Given the description of an element on the screen output the (x, y) to click on. 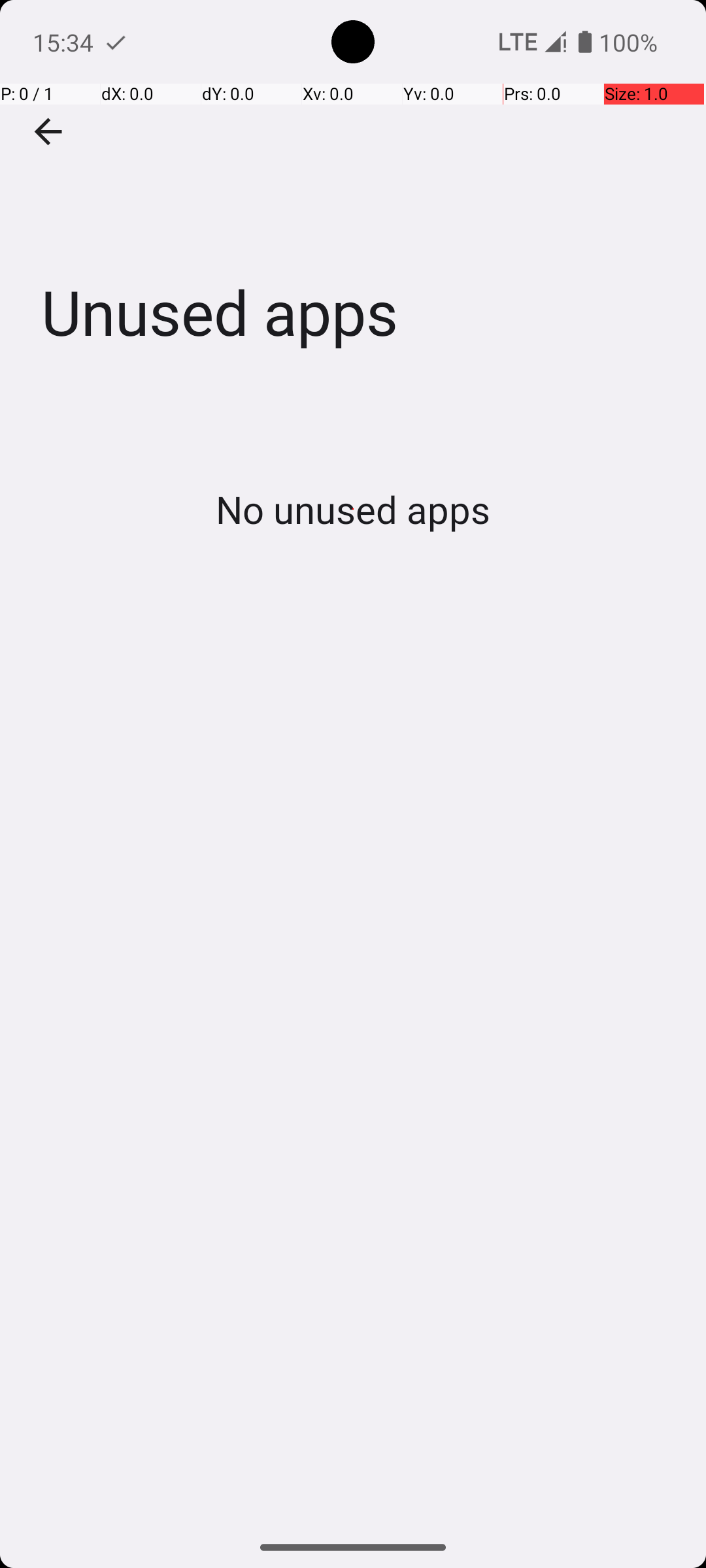
No unused apps Element type: android.widget.TextView (353, 508)
